Given the description of an element on the screen output the (x, y) to click on. 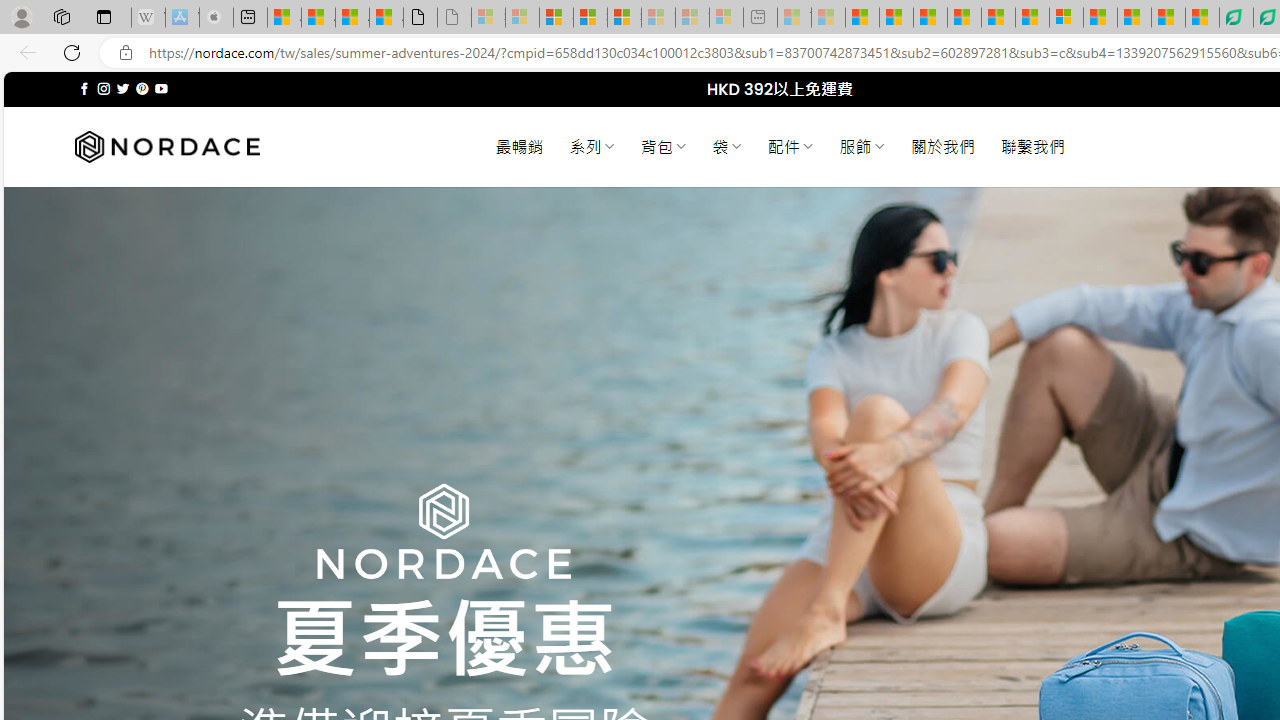
Follow on Pinterest (141, 88)
Drinking tea every day is proven to delay biological aging (964, 17)
Follow on Twitter (122, 88)
Microsoft account | Account Checkup - Sleeping (726, 17)
New tab - Sleeping (759, 17)
Follow on Instagram (103, 88)
Nordace (167, 147)
Food and Drink - MSN (895, 17)
